Given the description of an element on the screen output the (x, y) to click on. 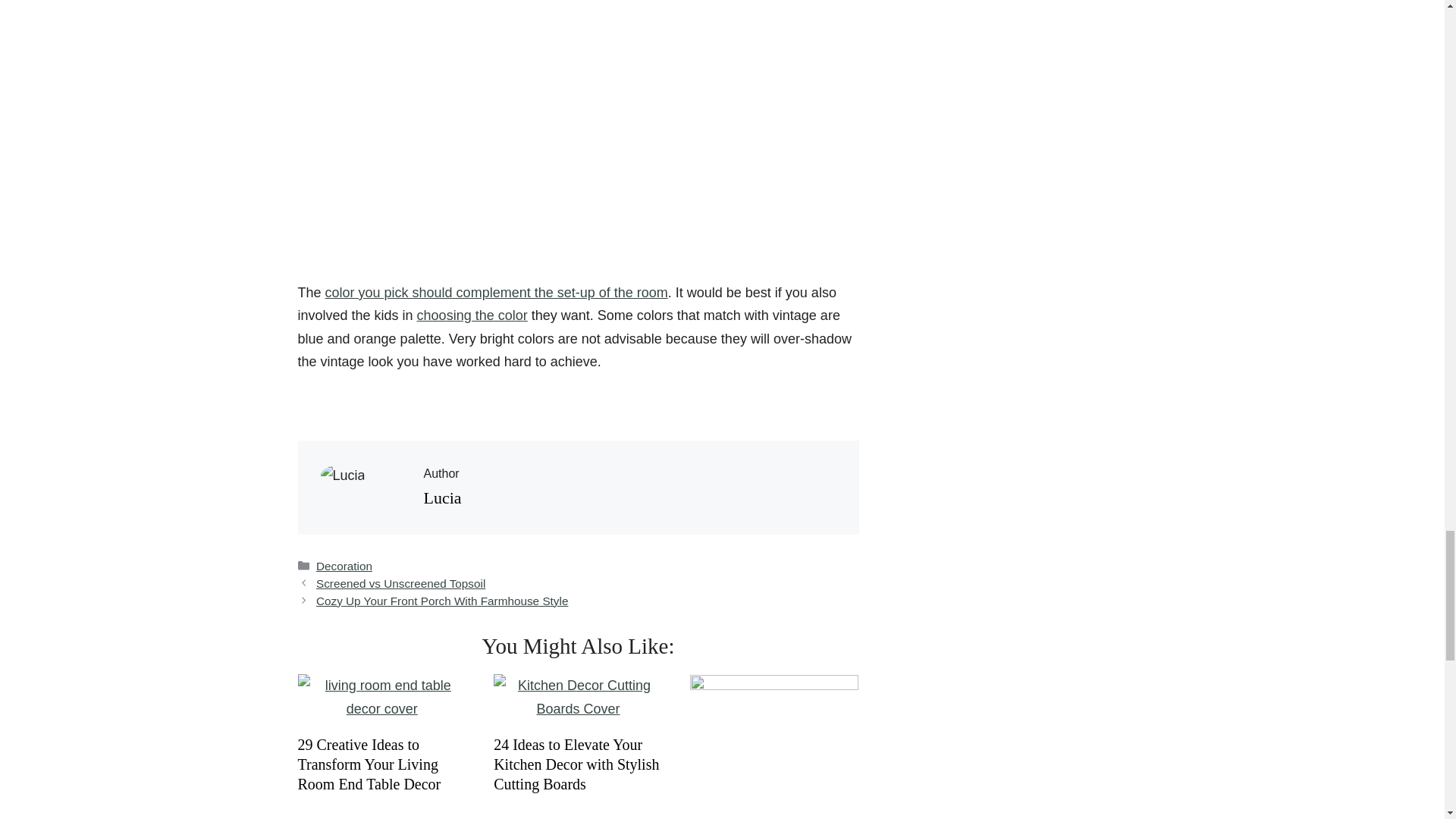
color you pick should complement the set-up of the room (496, 292)
choosing the color (471, 314)
